Given the description of an element on the screen output the (x, y) to click on. 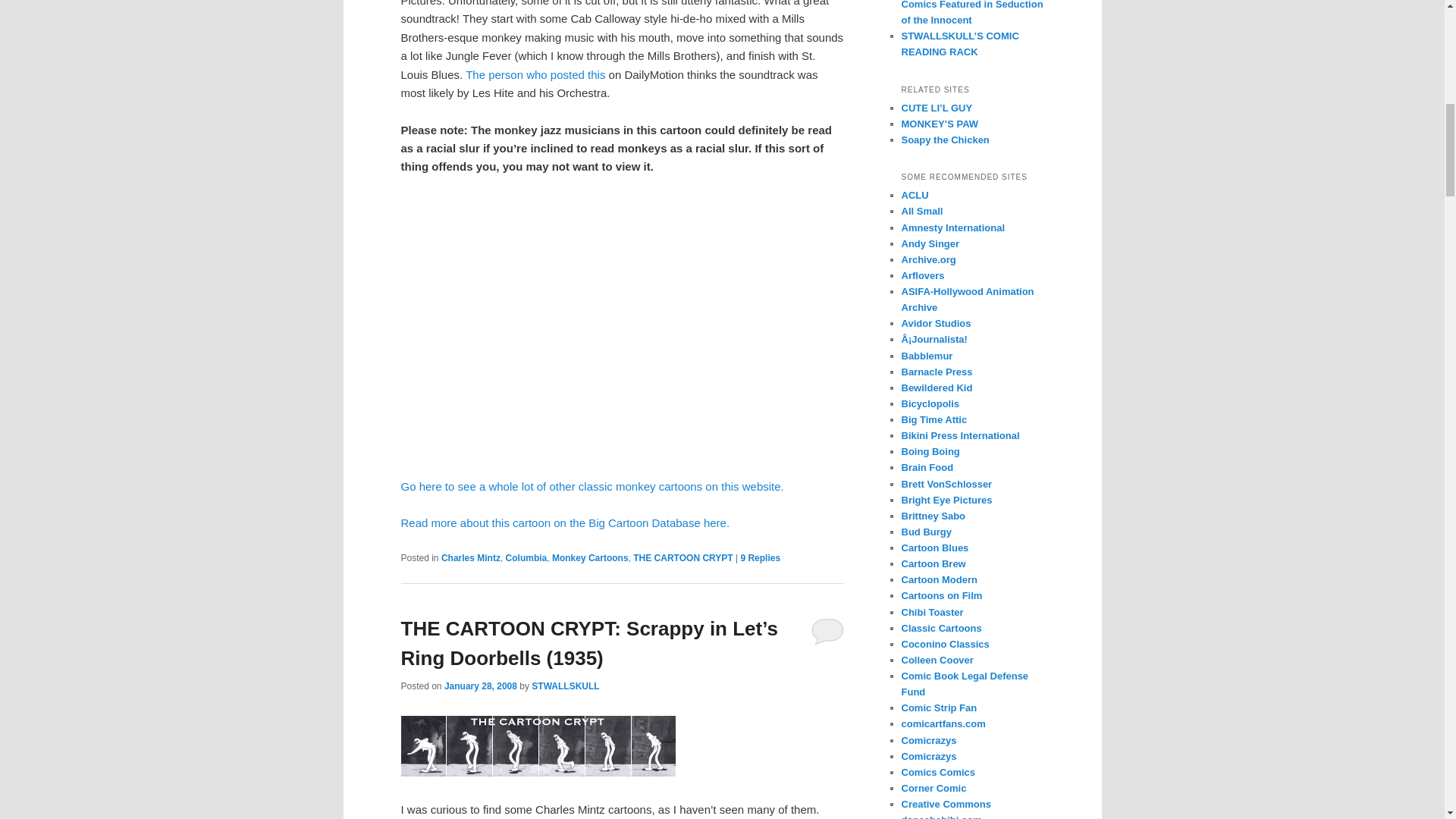
January 28, 2008 (480, 685)
Charles Mintz (470, 557)
8:10 am (480, 685)
Hiding Under Your Bed Since 2011 (939, 123)
STWALLSKULL (564, 685)
The person who posted this (535, 74)
View all posts by STWALLSKULL (564, 685)
Columbia (526, 557)
Monkey Cartoons (589, 557)
